Given the description of an element on the screen output the (x, y) to click on. 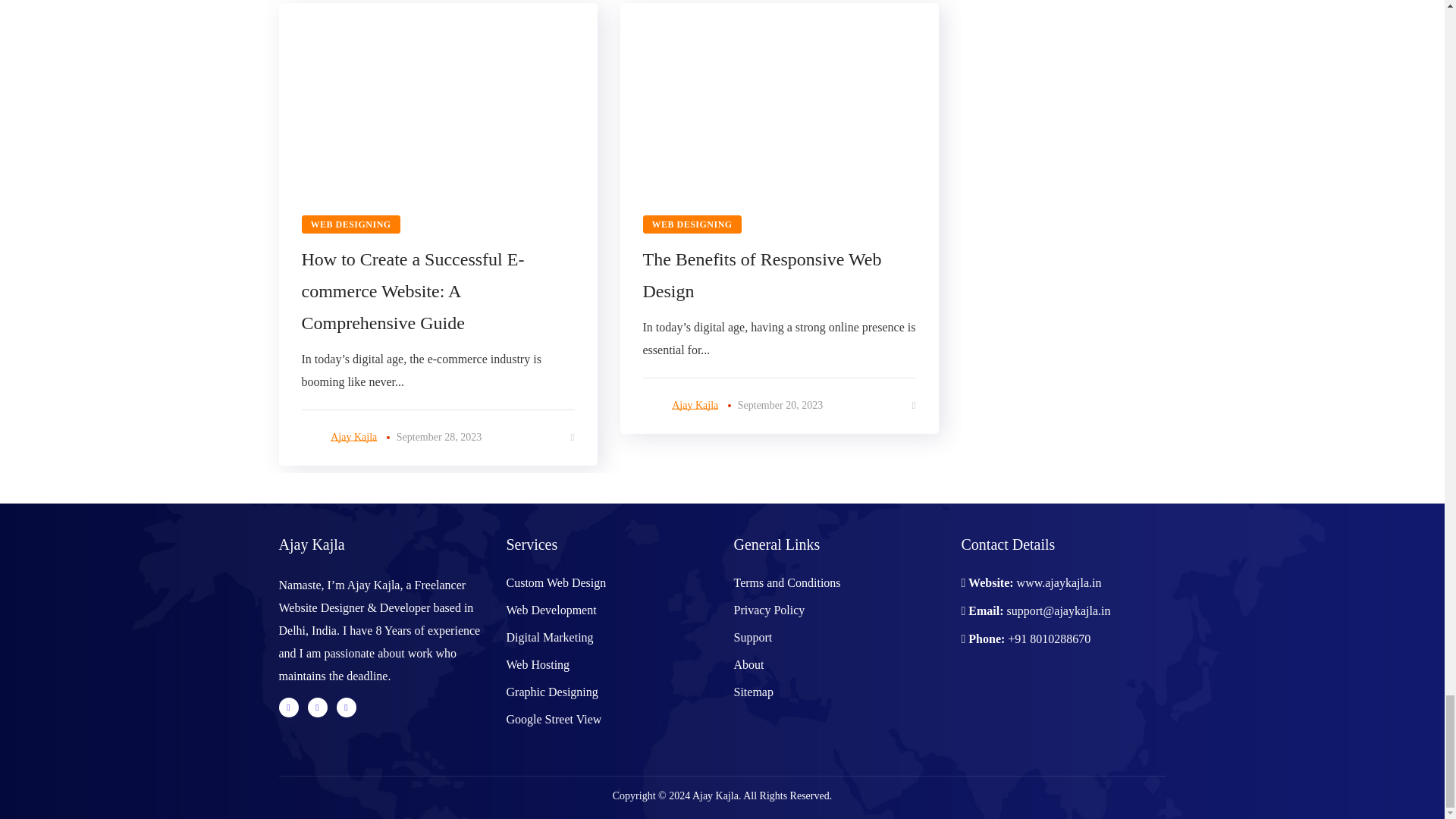
top-quality-seal (1006, 703)
Facebook (317, 707)
Twitter (288, 707)
best-choice-seal (1120, 703)
Instagram (346, 707)
